Given the description of an element on the screen output the (x, y) to click on. 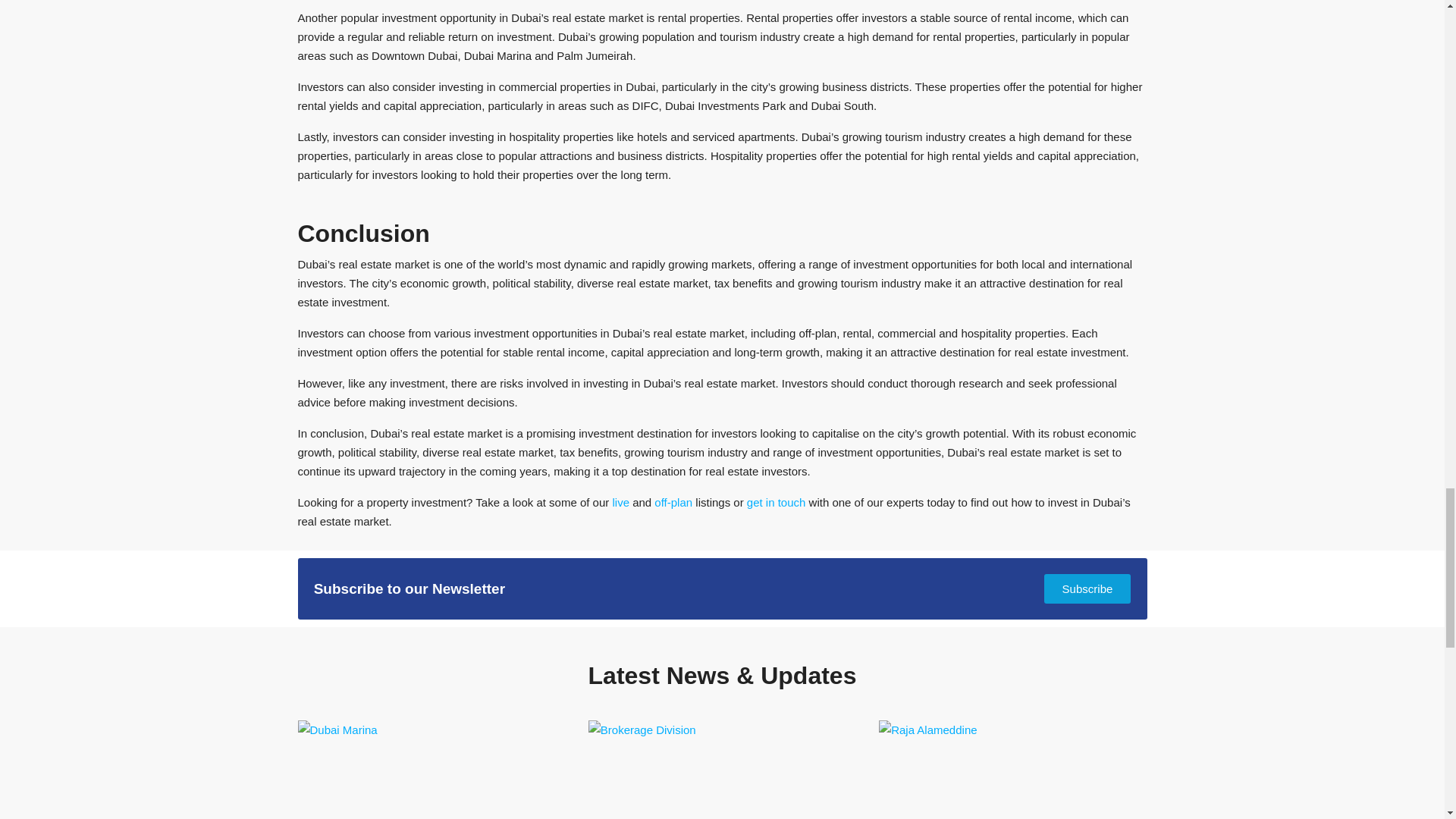
get in touch (776, 502)
off-plan (673, 502)
live (619, 502)
Subscribe (1087, 588)
